Given the description of an element on the screen output the (x, y) to click on. 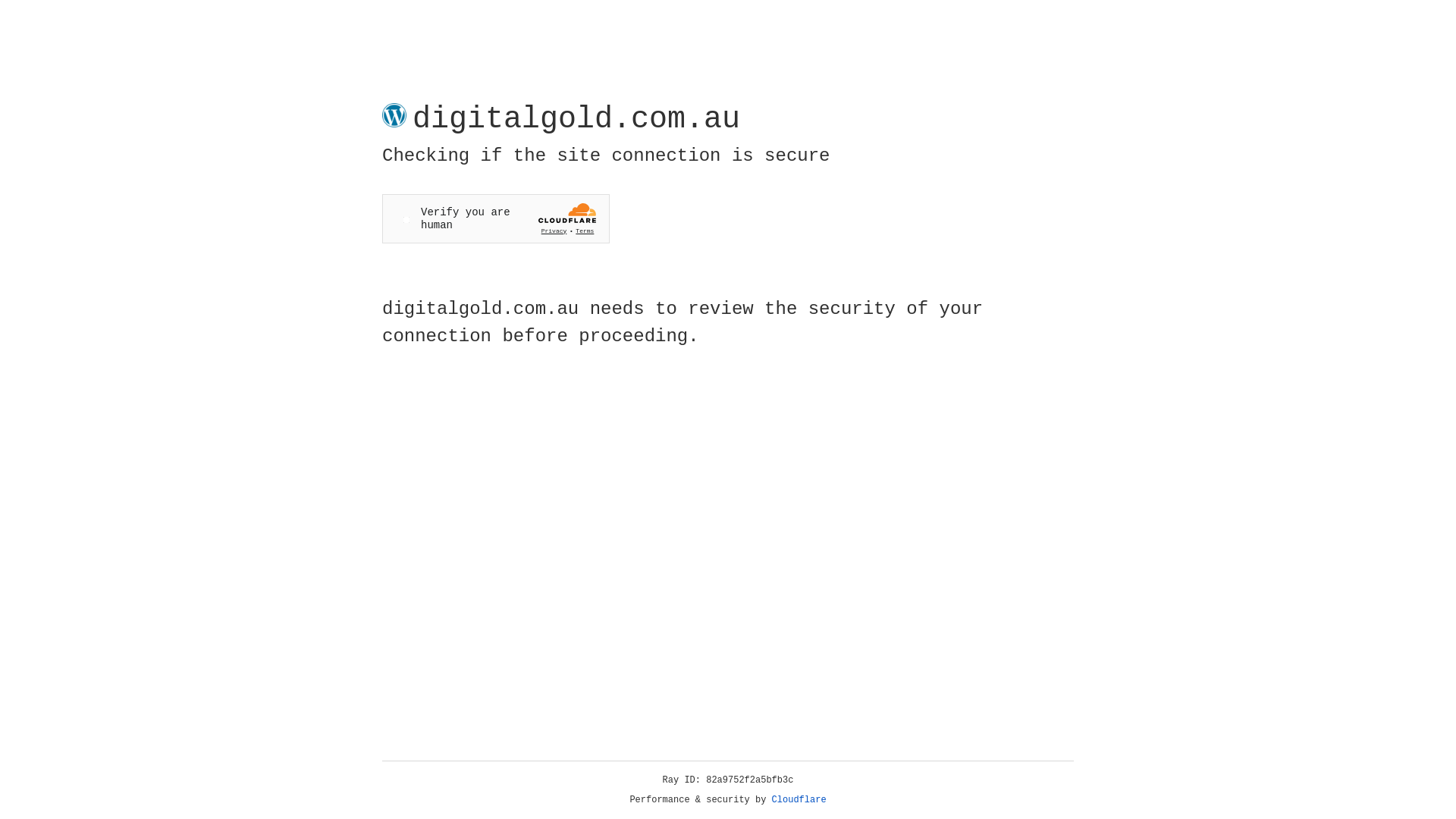
Cloudflare Element type: text (798, 799)
Widget containing a Cloudflare security challenge Element type: hover (495, 218)
